Given the description of an element on the screen output the (x, y) to click on. 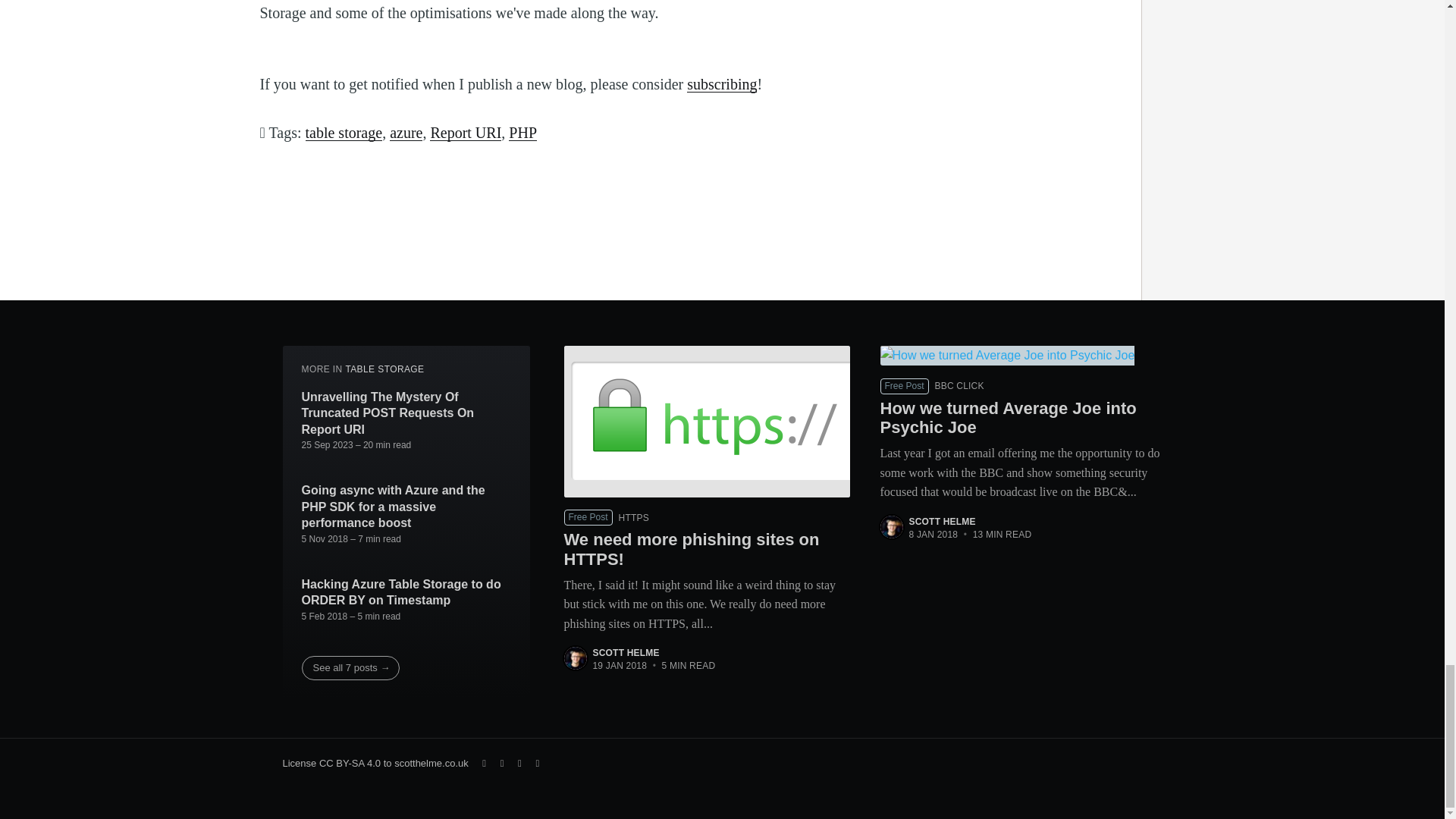
Report URI (464, 132)
azure (406, 132)
PHP (522, 132)
table storage (342, 132)
subscribing (722, 84)
